Given the description of an element on the screen output the (x, y) to click on. 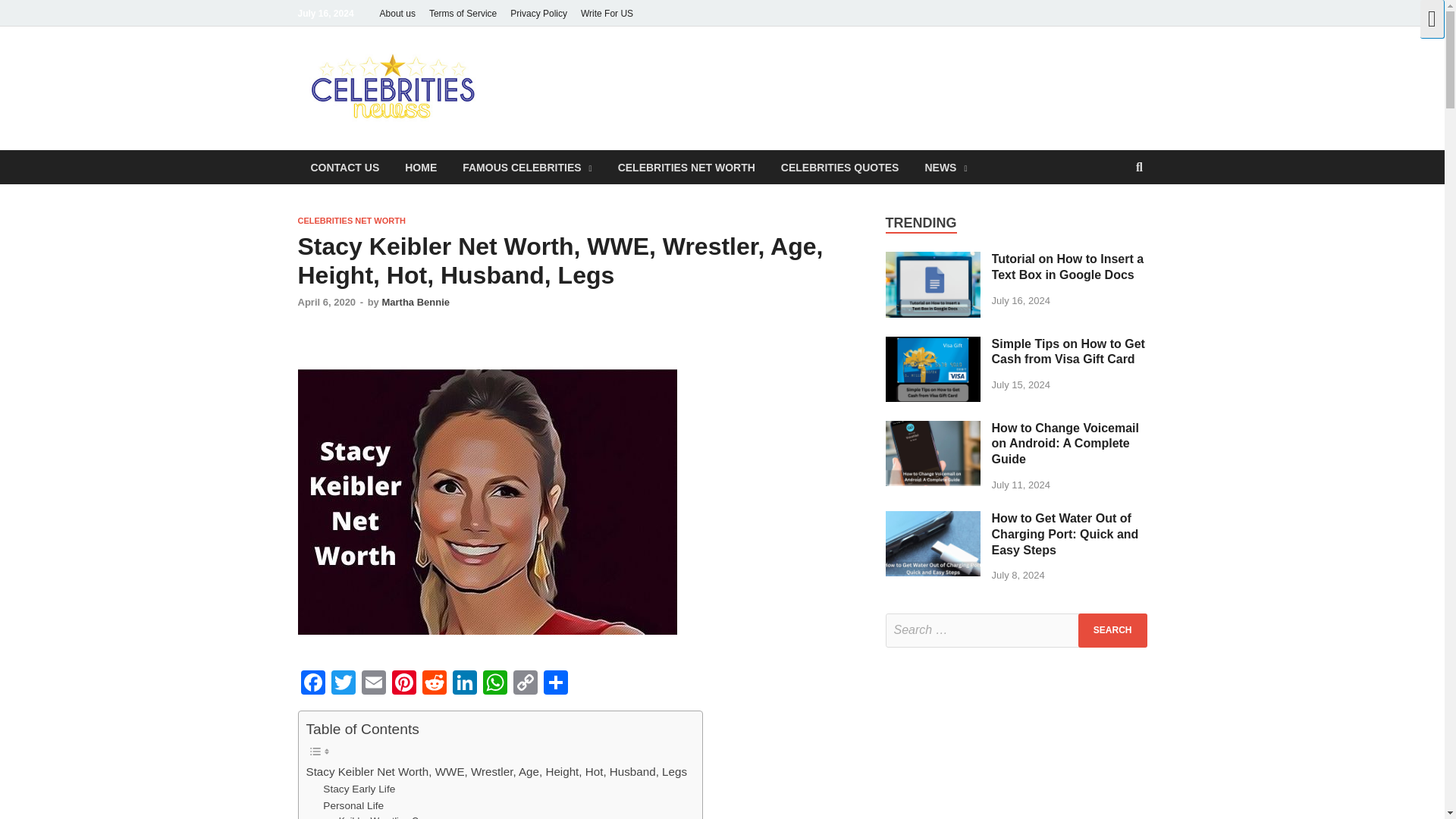
CELEBRITIES QUOTES (840, 166)
Reddit (433, 684)
NEWS (945, 166)
WhatsApp (494, 684)
Celebrities Newss (615, 78)
CELEBRITIES NET WORTH (686, 166)
FAMOUS CELEBRITIES (526, 166)
Copy Link (524, 684)
Pinterest (403, 684)
LinkedIn (463, 684)
About us (397, 13)
Personal Life (353, 805)
Email (373, 684)
CONTACT US (344, 166)
Twitter (342, 684)
